Given the description of an element on the screen output the (x, y) to click on. 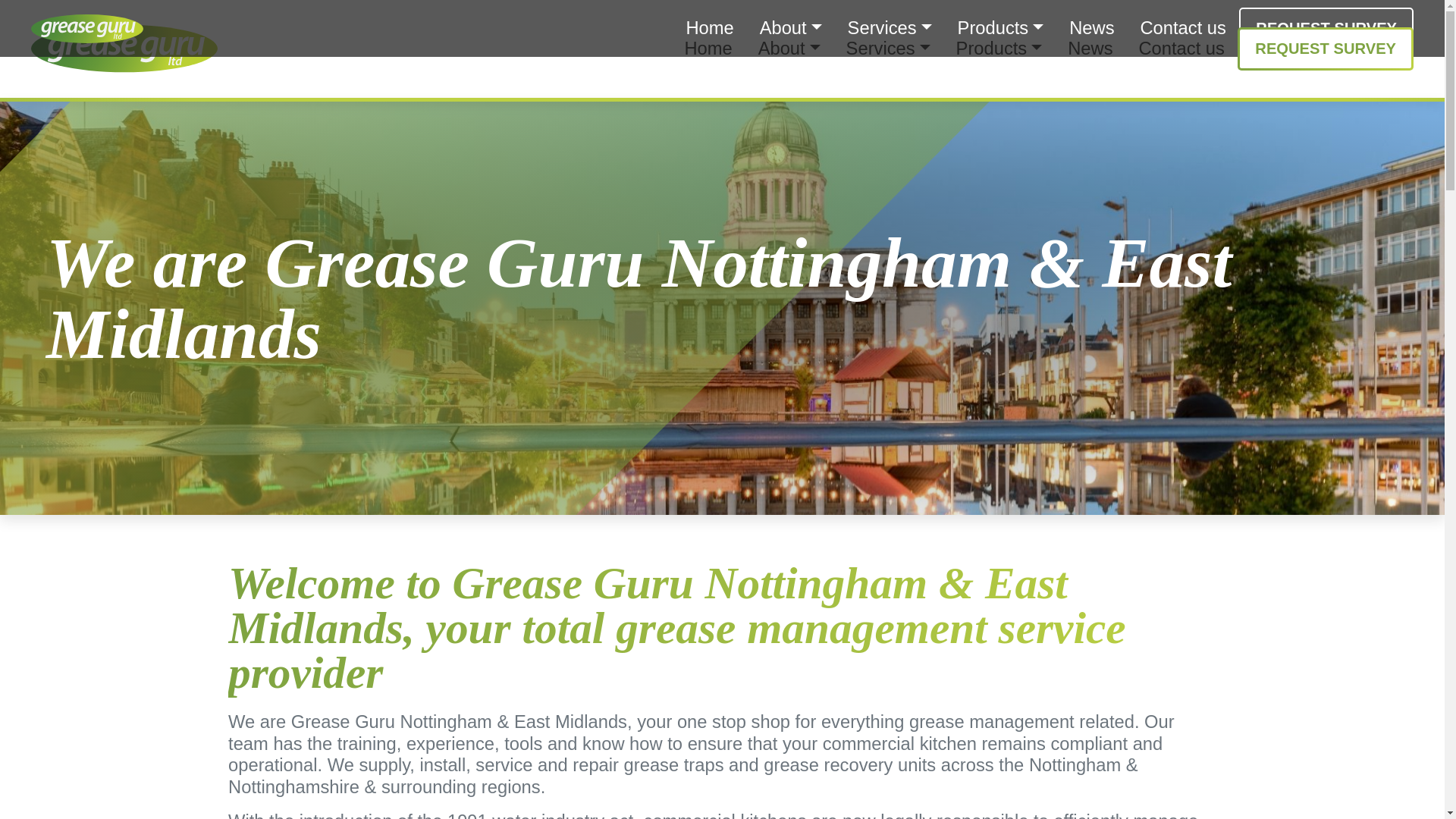
Home (709, 28)
News (1089, 48)
Contact us (1181, 48)
Services (887, 48)
About (789, 48)
Products (999, 48)
Home (708, 48)
